Given the description of an element on the screen output the (x, y) to click on. 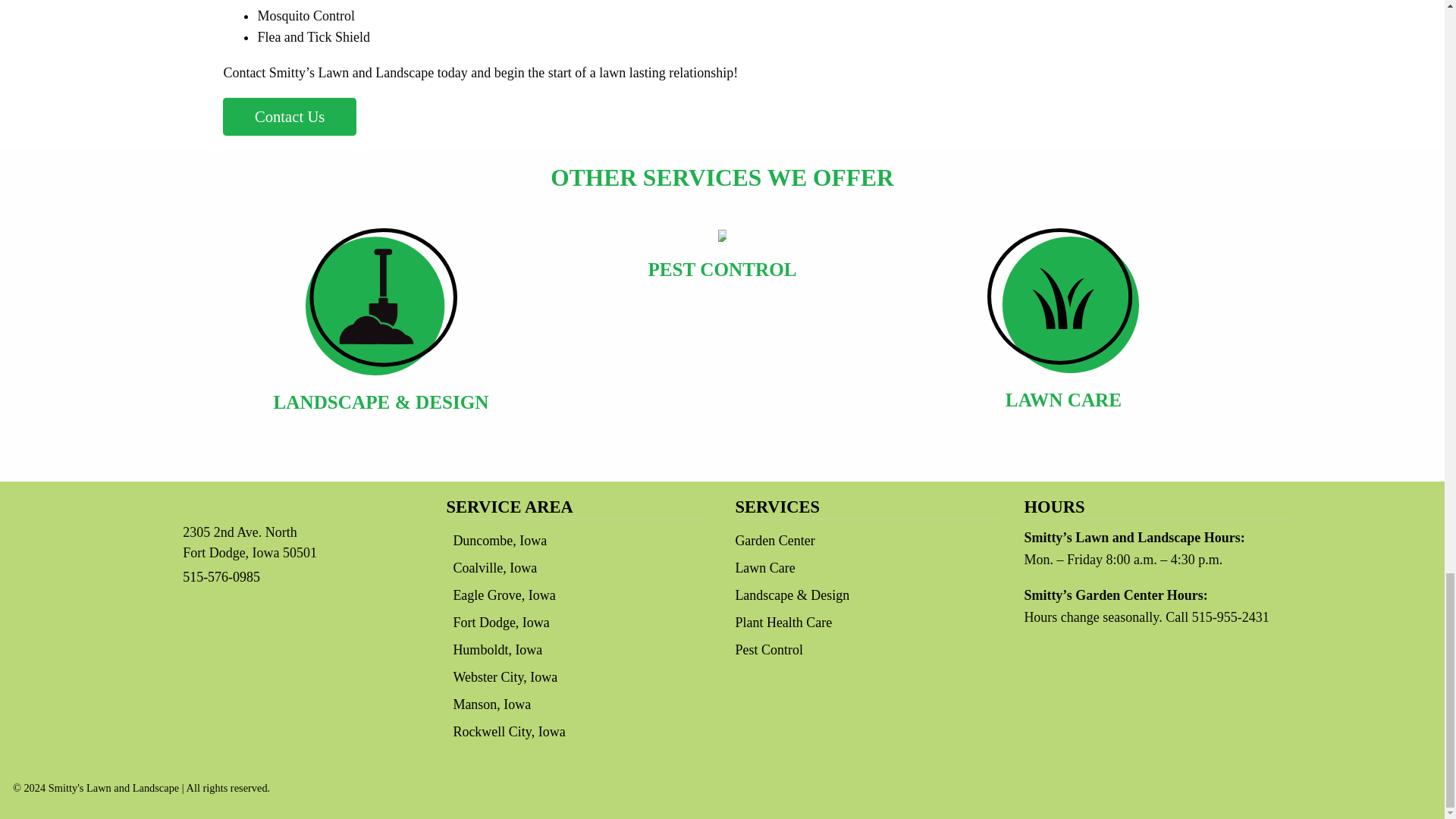
Lean more about Coalville, Iowa (494, 567)
Lean more about Fort Dodge, Iowa (500, 622)
Contact Us (289, 116)
Lean more about Duncombe, Iowa (499, 540)
Learn more about Plant Health Care (380, 328)
Lean more about Eagle Grove, Iowa (503, 595)
Learn more about Lawn Care (1063, 328)
